Given the description of an element on the screen output the (x, y) to click on. 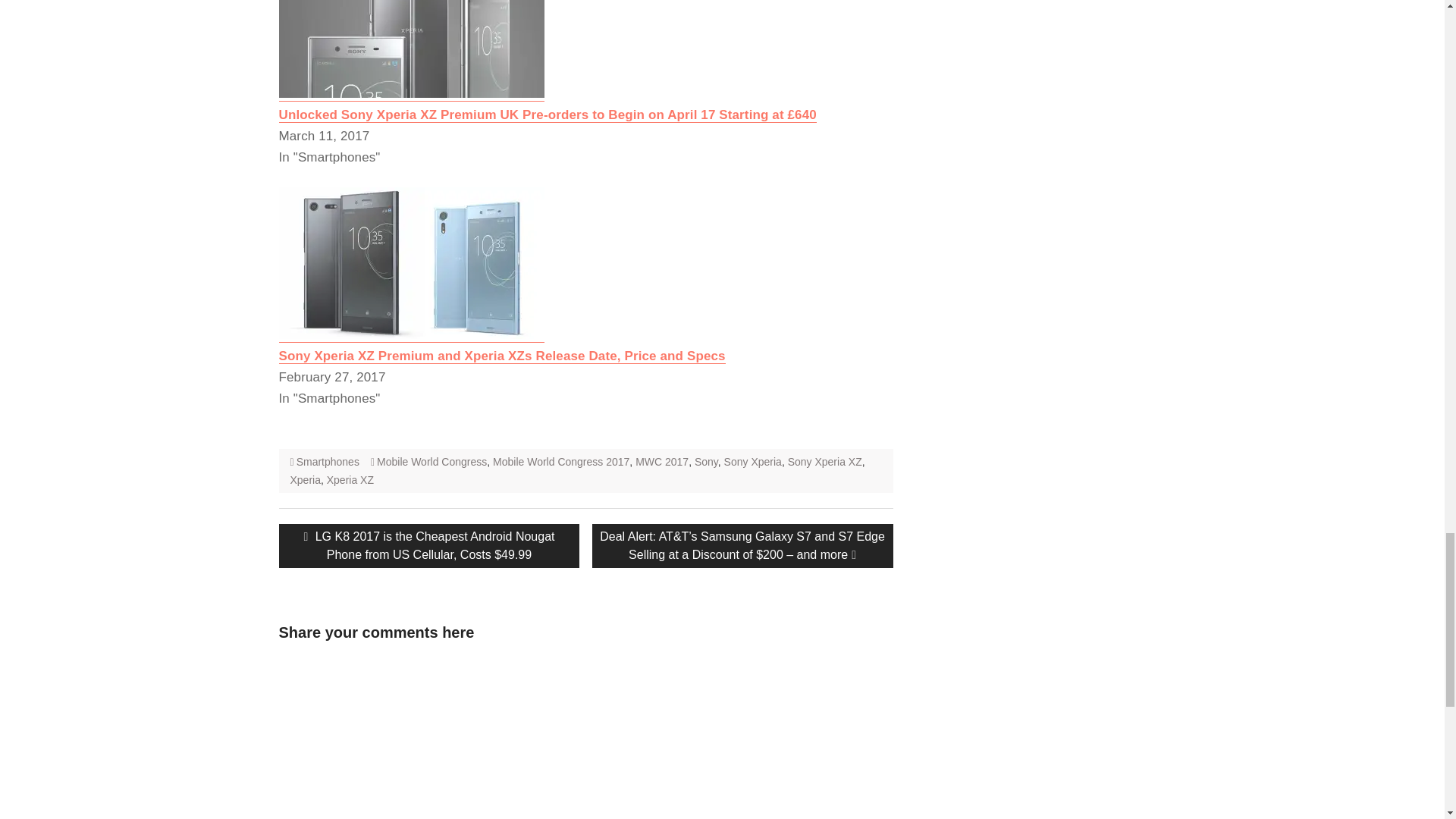
Mobile World Congress (431, 461)
Comment Form (380, 737)
Smartphones (328, 461)
